Given the description of an element on the screen output the (x, y) to click on. 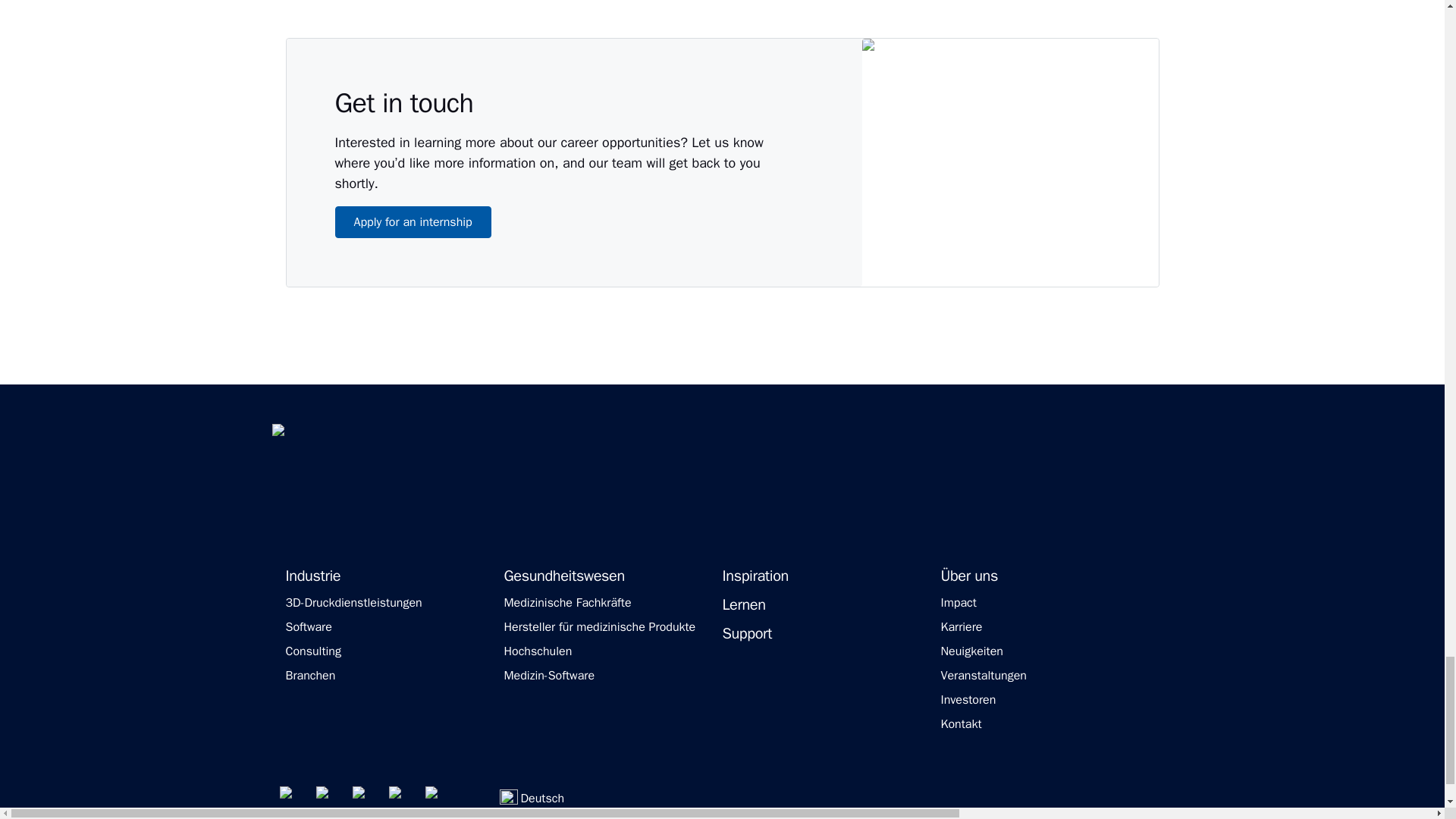
Neuigkeiten (971, 651)
Karriere (960, 626)
Inspiration (754, 576)
Apply for an internship (413, 222)
Gesundheitswesen (563, 576)
Impact (957, 602)
Medizin-Software (548, 675)
Lernen (743, 605)
Hochschulen (537, 651)
Support (746, 634)
